Given the description of an element on the screen output the (x, y) to click on. 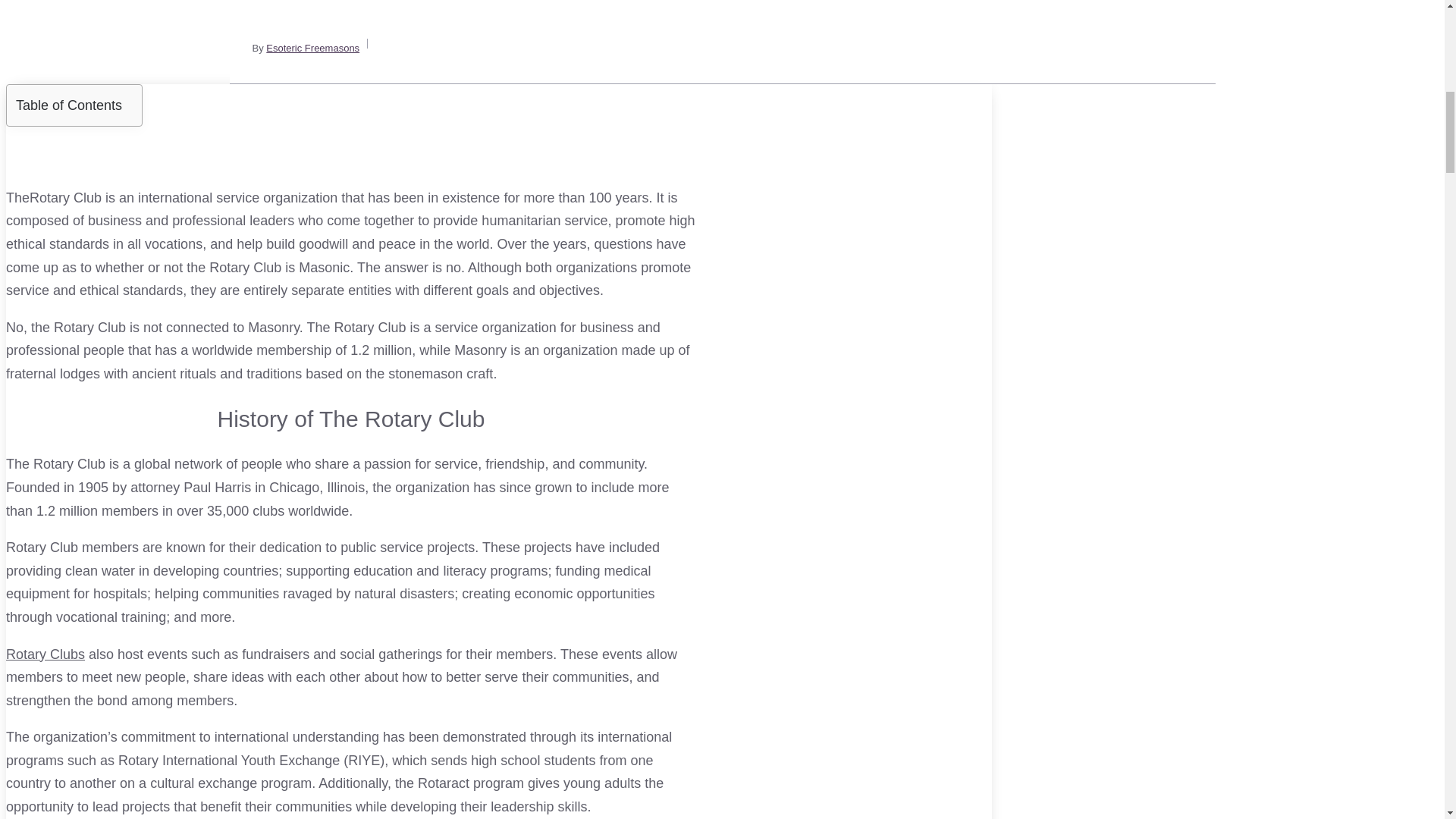
Esoteric Freemasons (312, 48)
Rotary Club Charity Number (44, 653)
Rotary Clubs (44, 653)
